Given the description of an element on the screen output the (x, y) to click on. 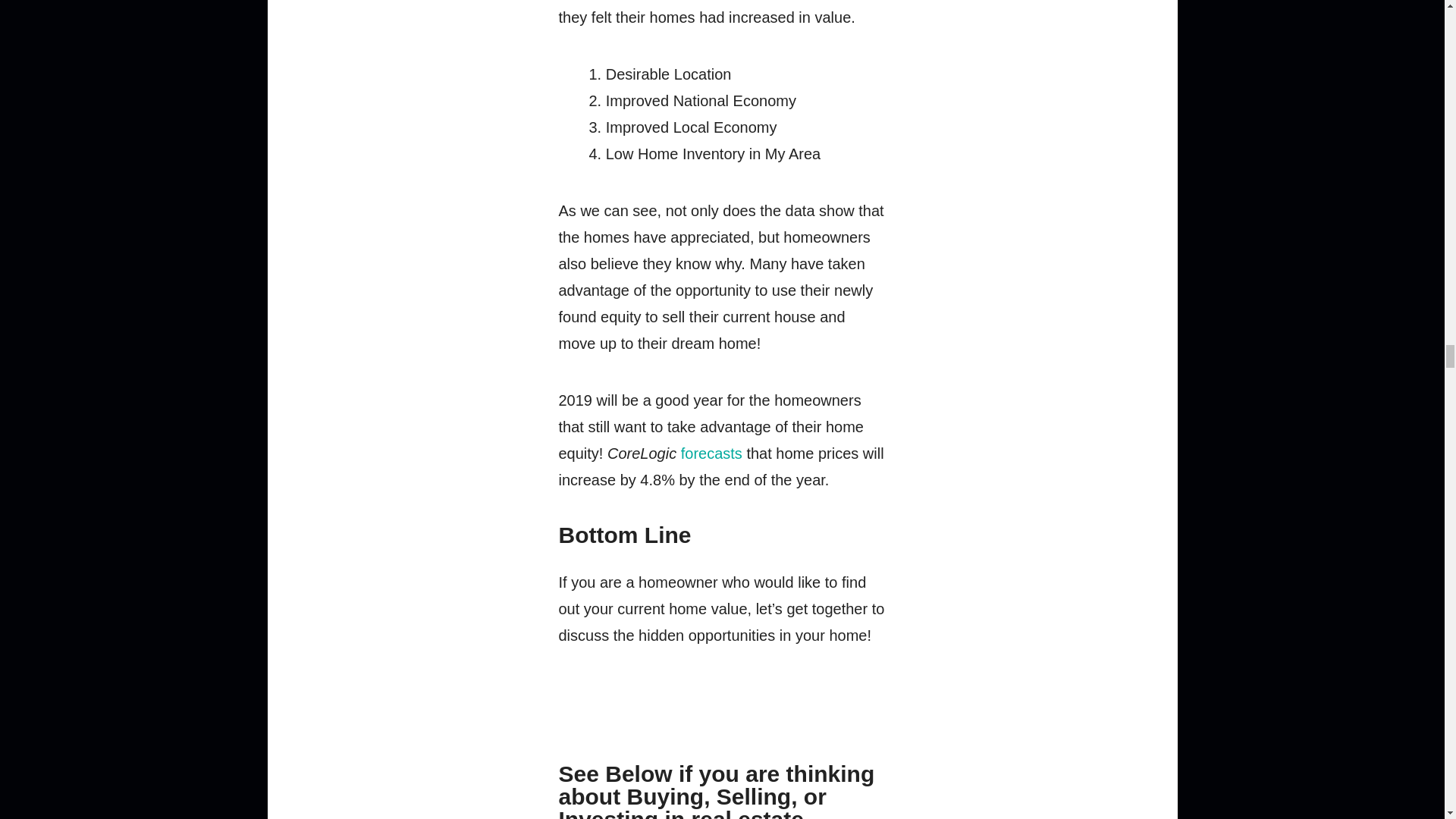
forecasts (711, 453)
